Given the description of an element on the screen output the (x, y) to click on. 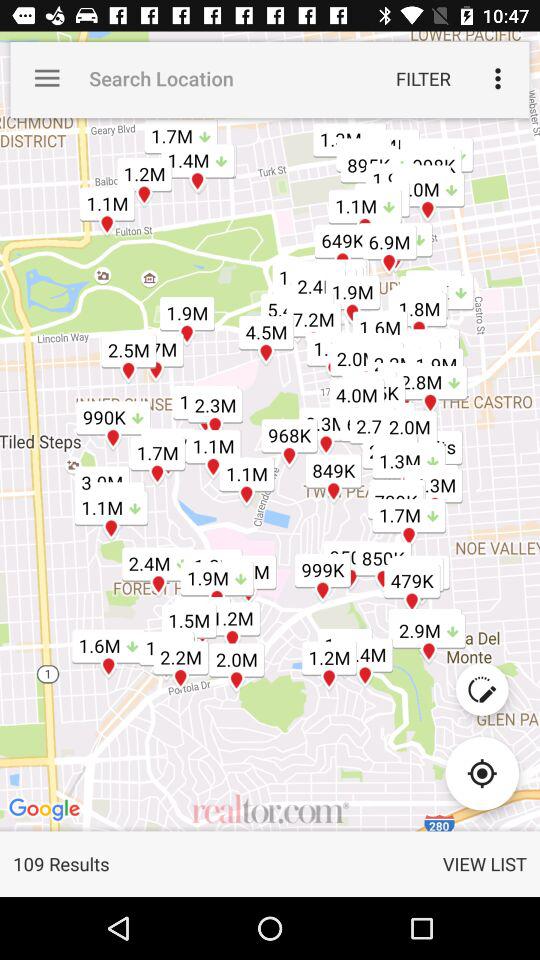
turn off icon next to the search location icon (423, 78)
